Given the description of an element on the screen output the (x, y) to click on. 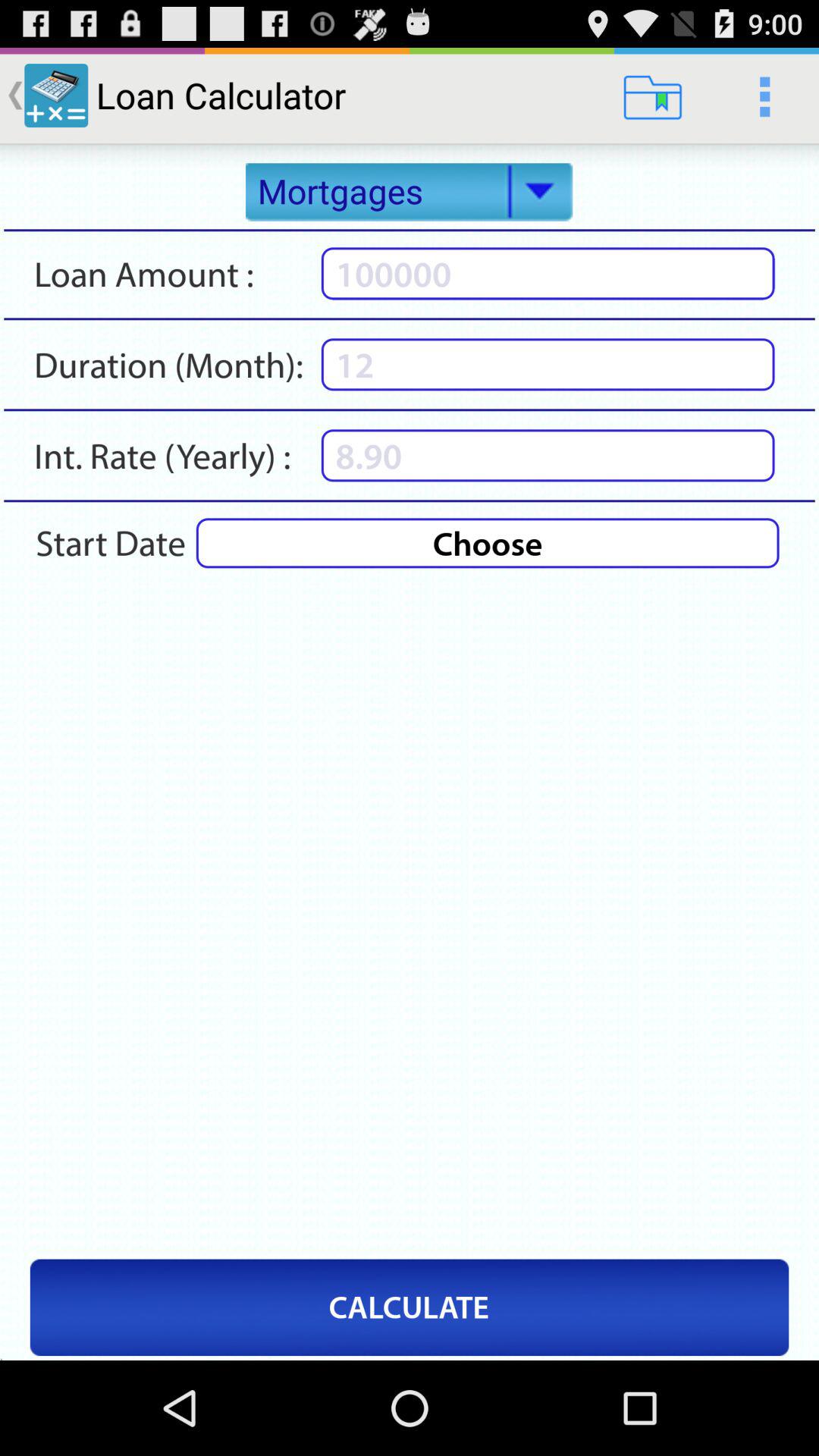
rate (547, 455)
